Given the description of an element on the screen output the (x, y) to click on. 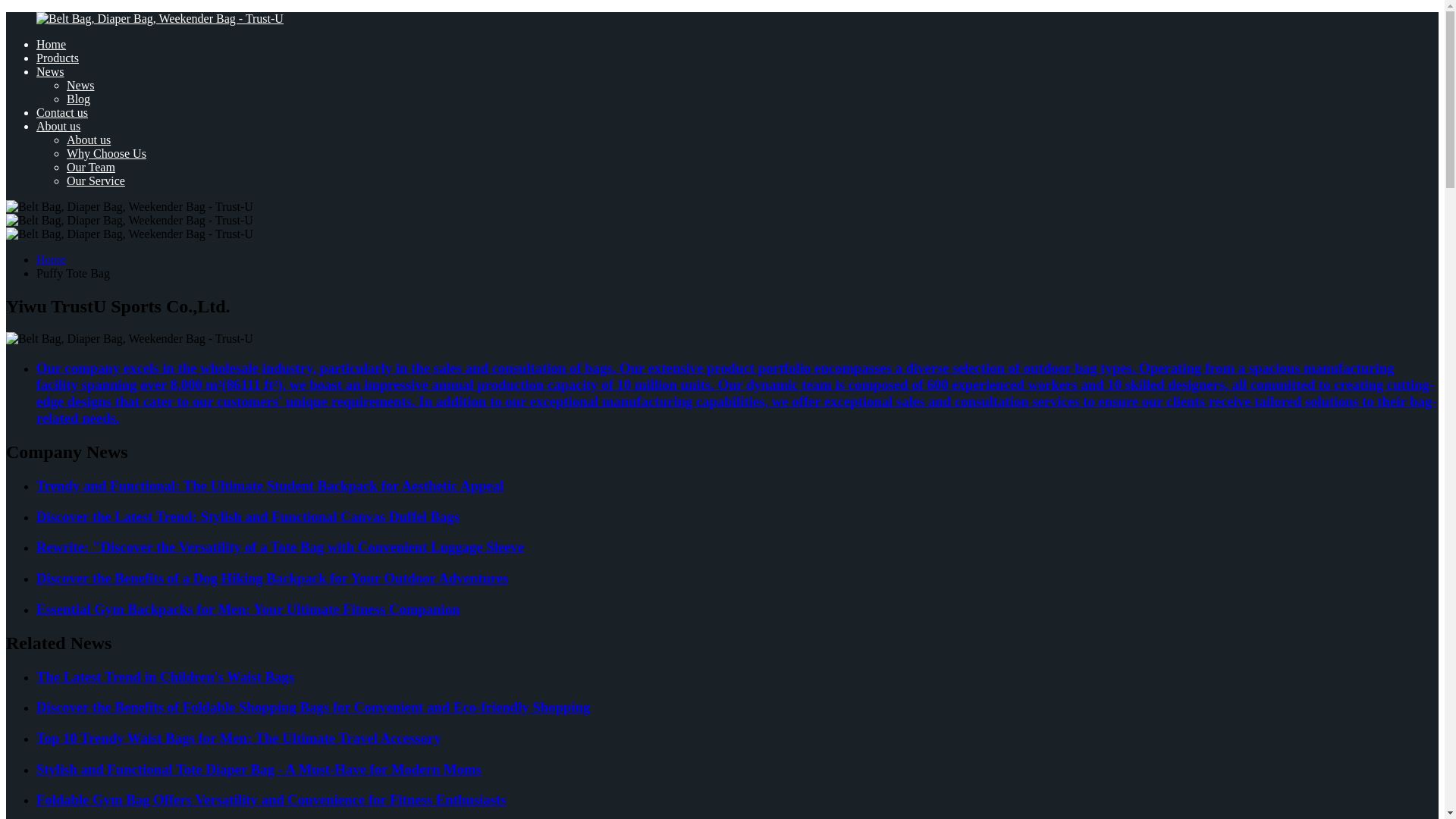
Why Choose Us (106, 153)
About us (58, 125)
Home (50, 43)
Contact us (61, 112)
Home (50, 259)
News (50, 71)
Blog (78, 98)
News (80, 84)
Products (57, 57)
Our Team (90, 166)
Our Service (95, 180)
About us (88, 139)
